Given the description of an element on the screen output the (x, y) to click on. 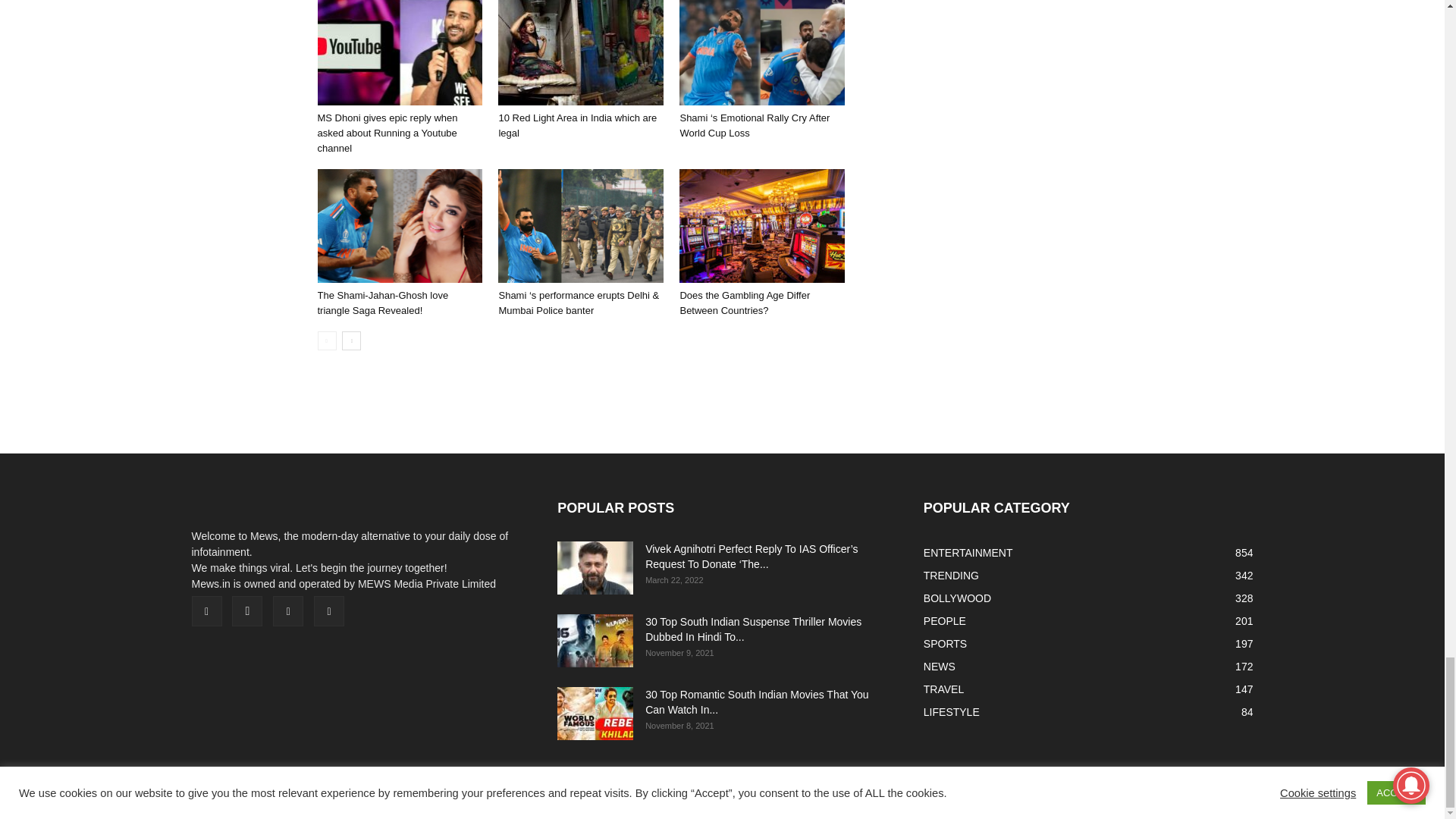
10 Red Light Area in India which are legal (580, 52)
